Given the description of an element on the screen output the (x, y) to click on. 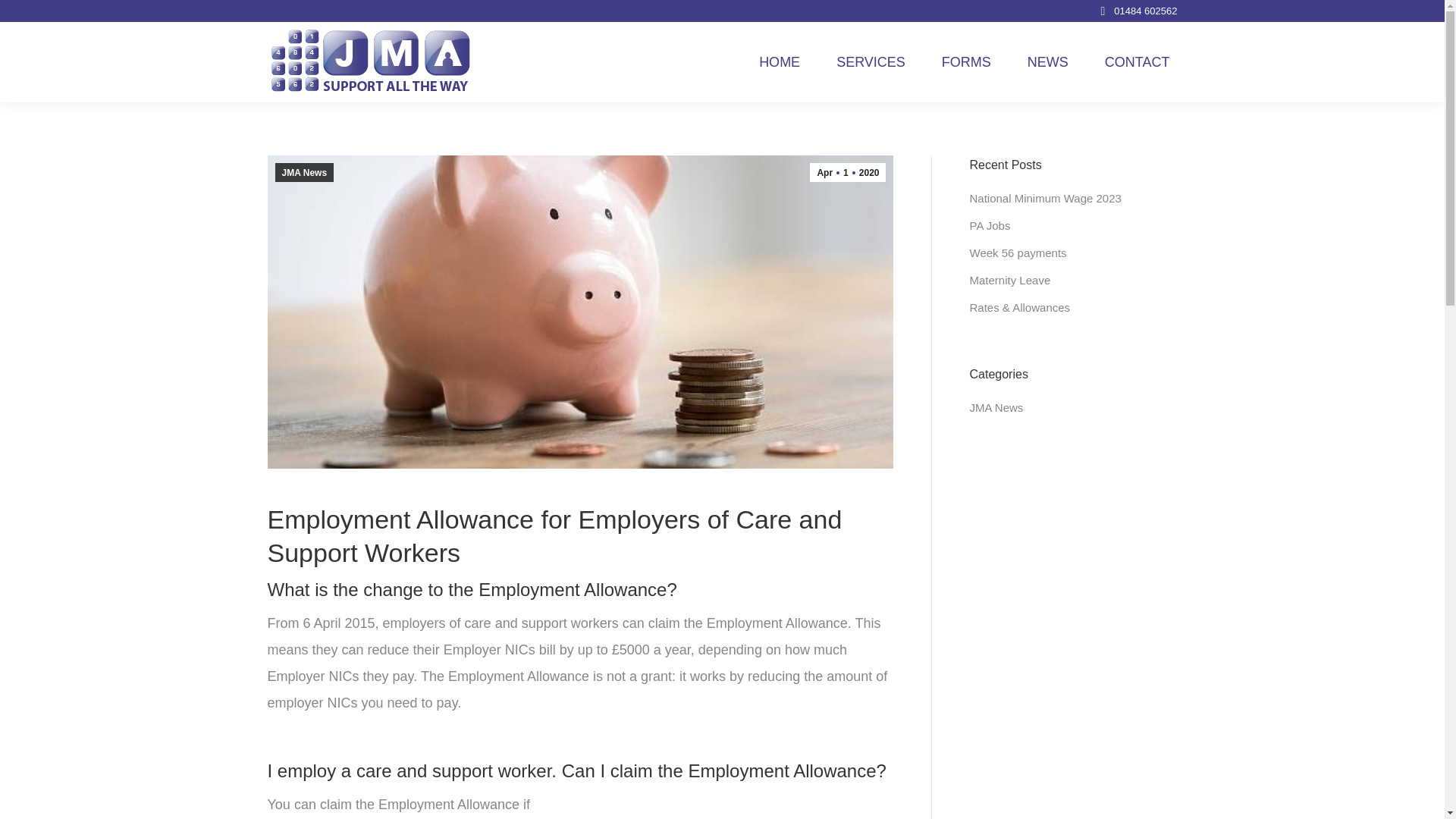
JMA News (996, 407)
CONTACT (1137, 61)
FORMS (966, 61)
PA Jobs (989, 225)
Week 56 payments (1017, 252)
National Minimum Wage 2023 (1045, 197)
11:04 am (847, 171)
HOME (847, 171)
Maternity Leave (779, 61)
NEWS (1009, 279)
JMA News (1047, 61)
SERVICES (304, 171)
